Given the description of an element on the screen output the (x, y) to click on. 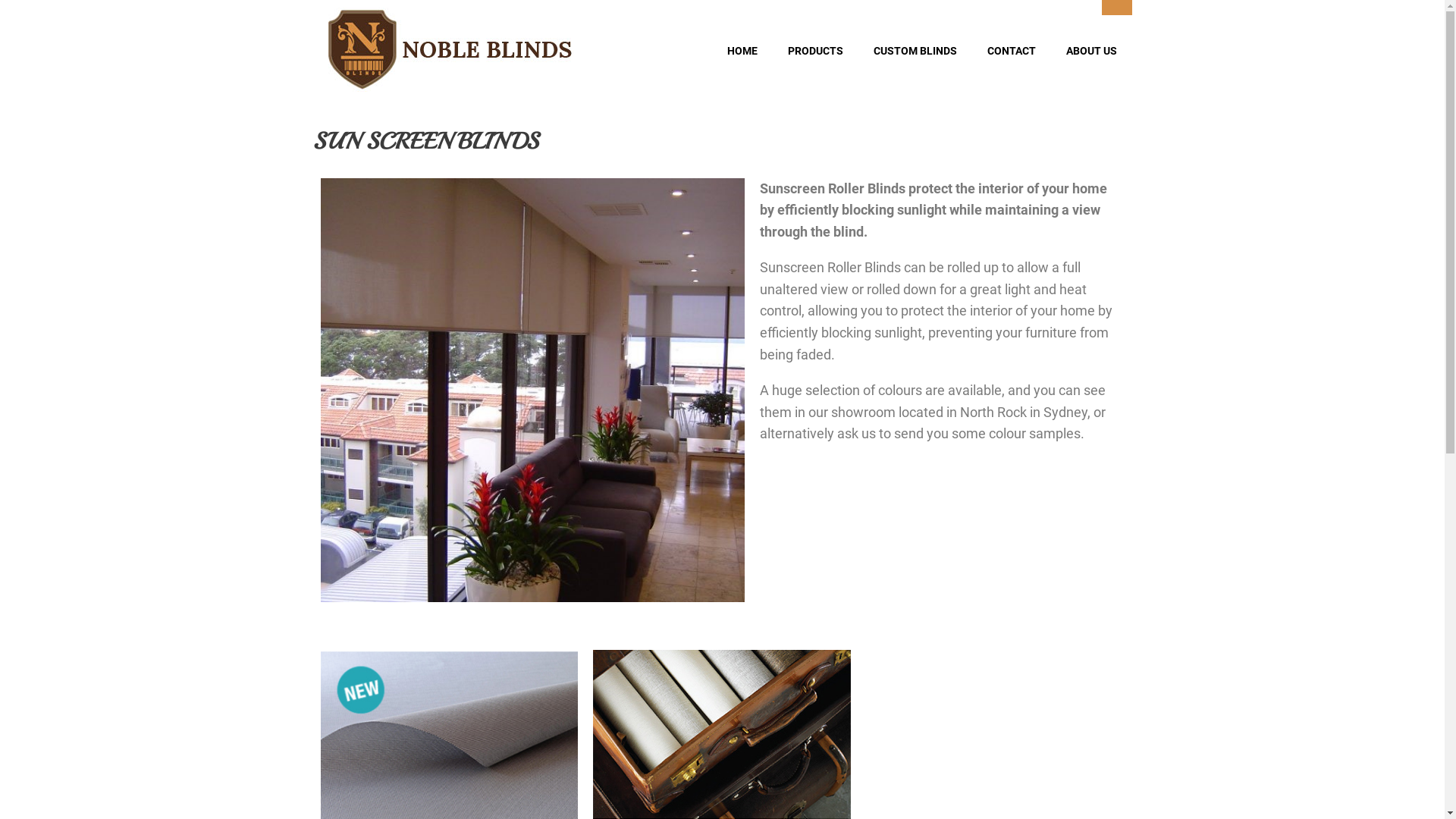
CONTACT Element type: text (1011, 50)
PRODUCTS Element type: text (814, 50)
CUSTOM BLINDS Element type: text (915, 50)
HOME Element type: text (741, 50)
Noble Blinds Element type: hover (450, 49)
ABOUT US Element type: text (1091, 50)
